Given the description of an element on the screen output the (x, y) to click on. 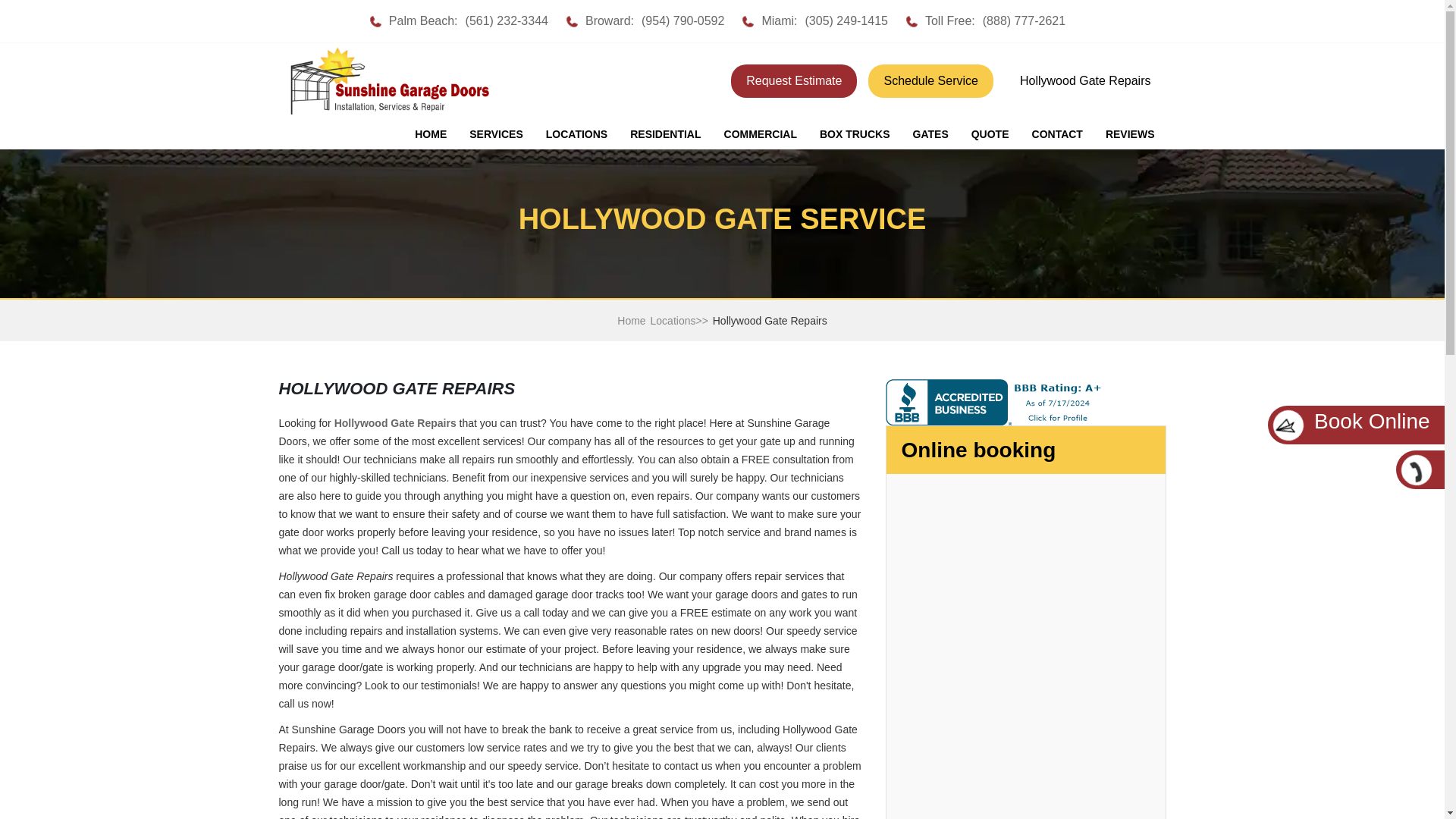
GATES (930, 133)
COMMERCIAL (759, 133)
LOCATIONS (576, 133)
QUOTE (990, 133)
Request Estimate (793, 80)
REVIEWS (1129, 133)
CONTACT (1057, 133)
RESIDENTIAL (665, 133)
SERVICES (495, 133)
BOX TRUCKS (854, 133)
HOME (430, 133)
Schedule Service (929, 80)
